Given the description of an element on the screen output the (x, y) to click on. 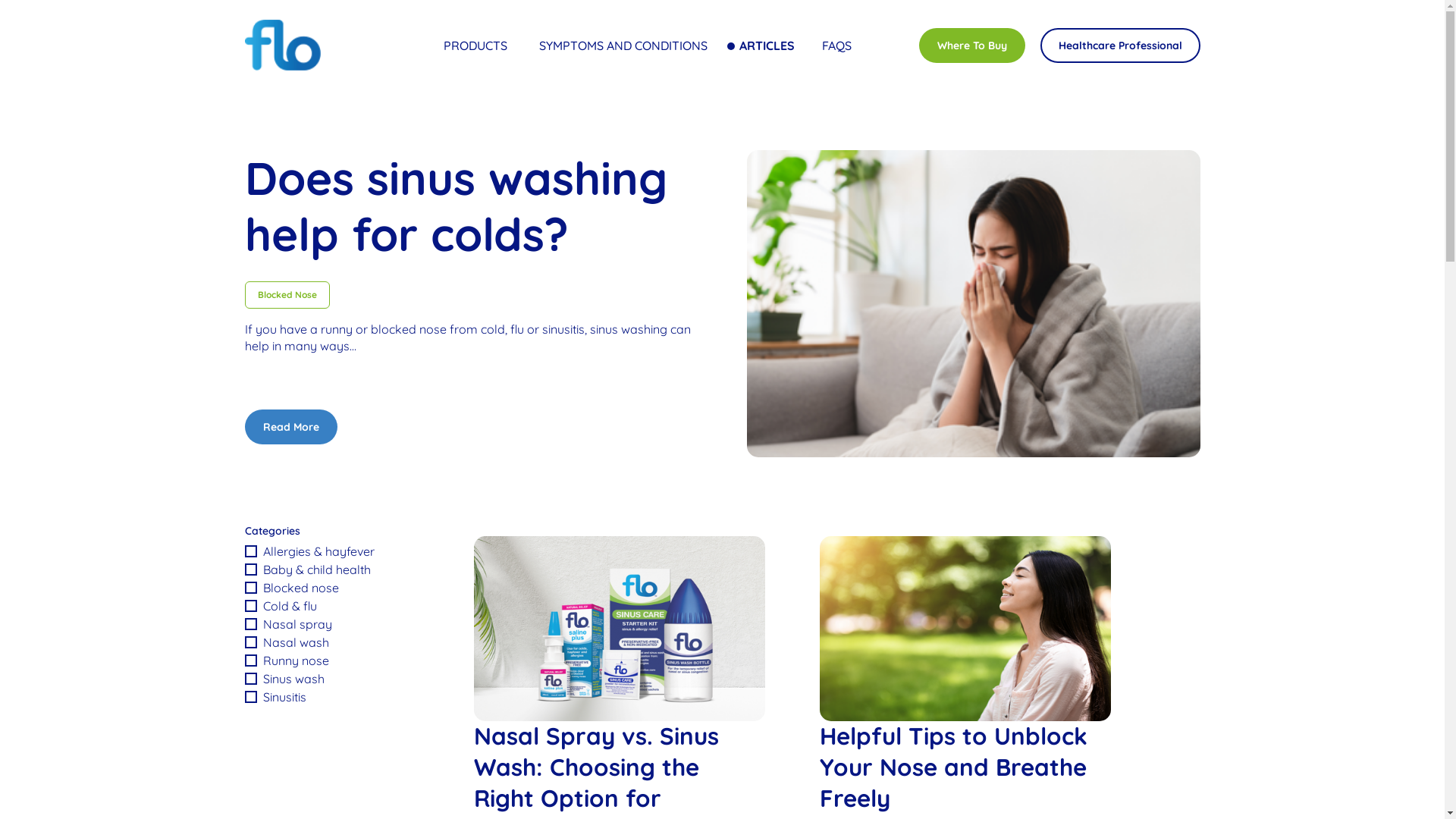
SYMPTOMS AND CONDITIONS Element type: text (625, 45)
Helpful Tips to Unblock Your Nose and Breathe Freely Element type: text (952, 766)
FAQS Element type: text (836, 45)
Healthcare Professional Element type: text (1120, 45)
Where To Buy Element type: text (972, 45)
Read More Element type: text (290, 426)
PRODUCTS Element type: text (477, 45)
ARTICLES Element type: text (766, 45)
